Given the description of an element on the screen output the (x, y) to click on. 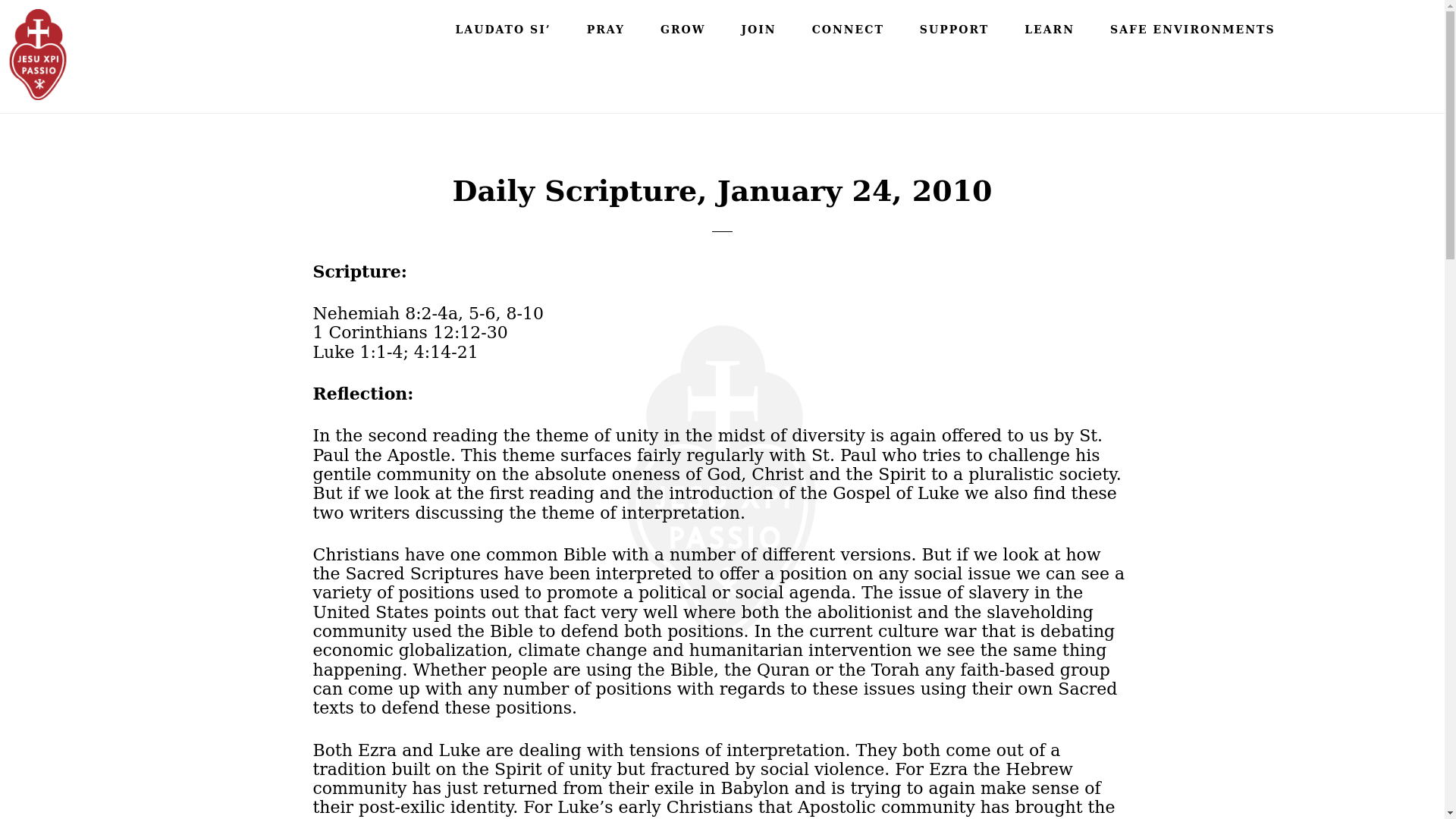
GROW (682, 29)
PRAY (606, 29)
JOIN (759, 29)
